Given the description of an element on the screen output the (x, y) to click on. 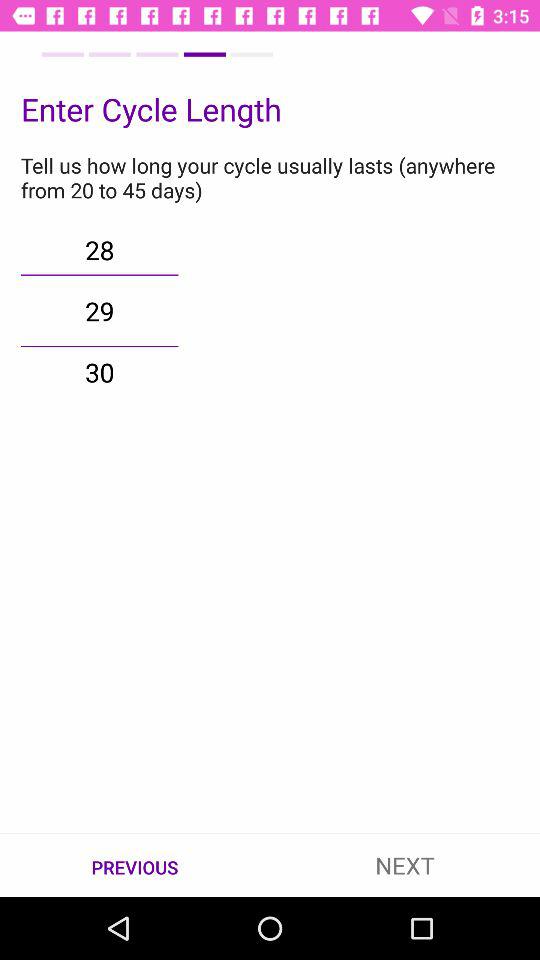
launch the icon to the right of the previous icon (405, 864)
